Given the description of an element on the screen output the (x, y) to click on. 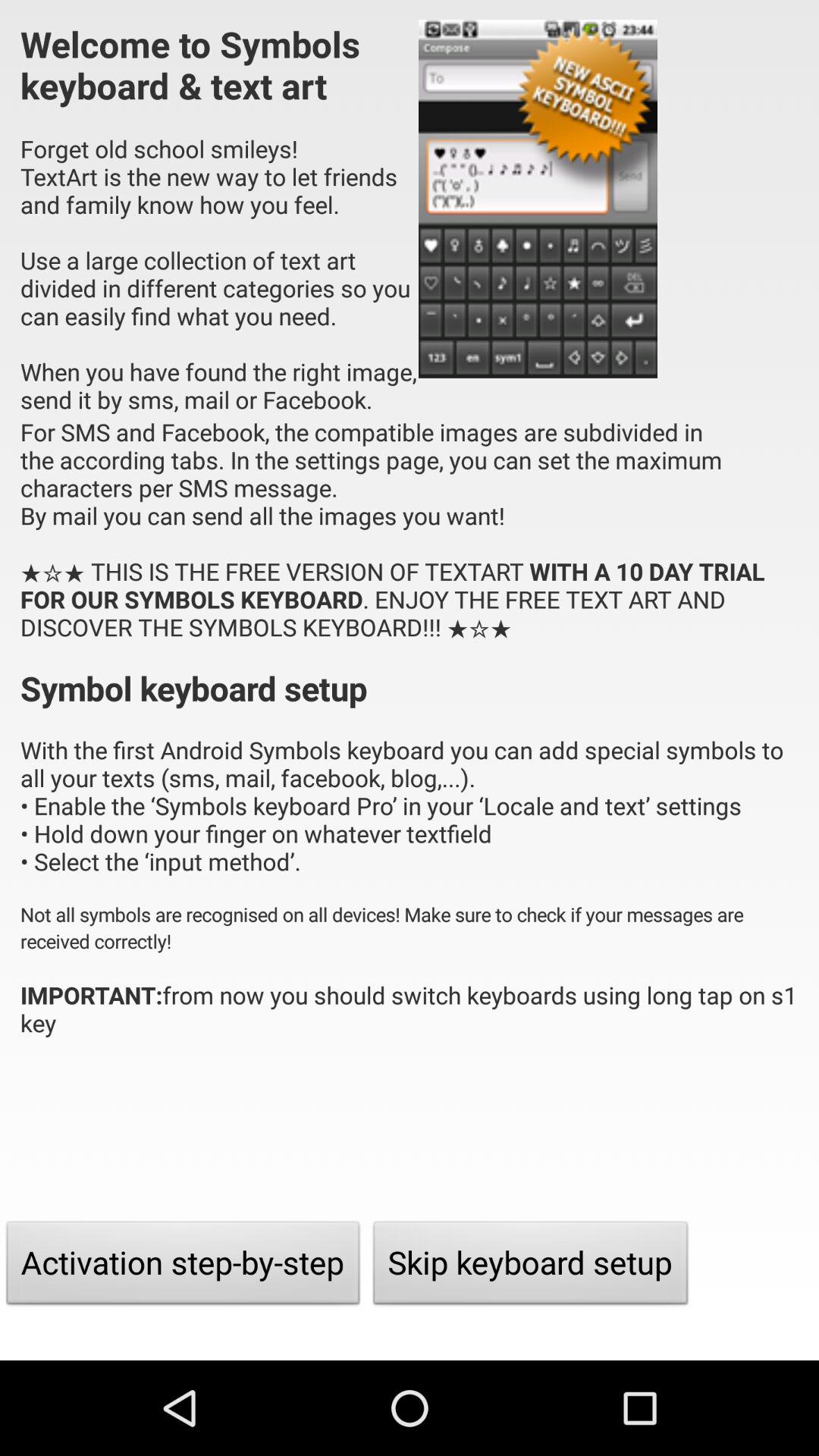
flip until skip keyboard setup (530, 1266)
